Given the description of an element on the screen output the (x, y) to click on. 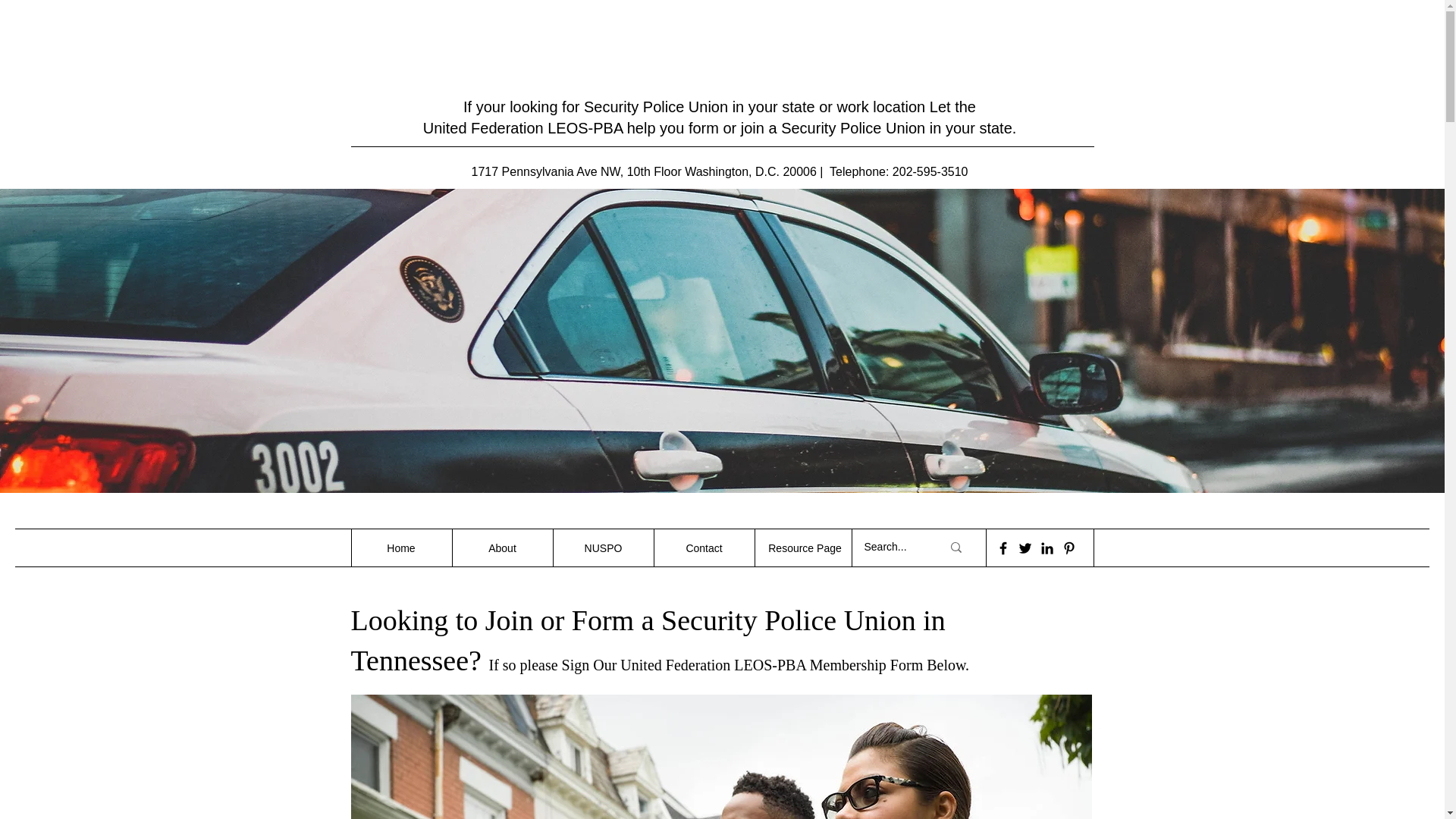
About (502, 548)
Contact (703, 548)
NUSPO (601, 548)
Home (400, 548)
Resource Page (804, 548)
